Given the description of an element on the screen output the (x, y) to click on. 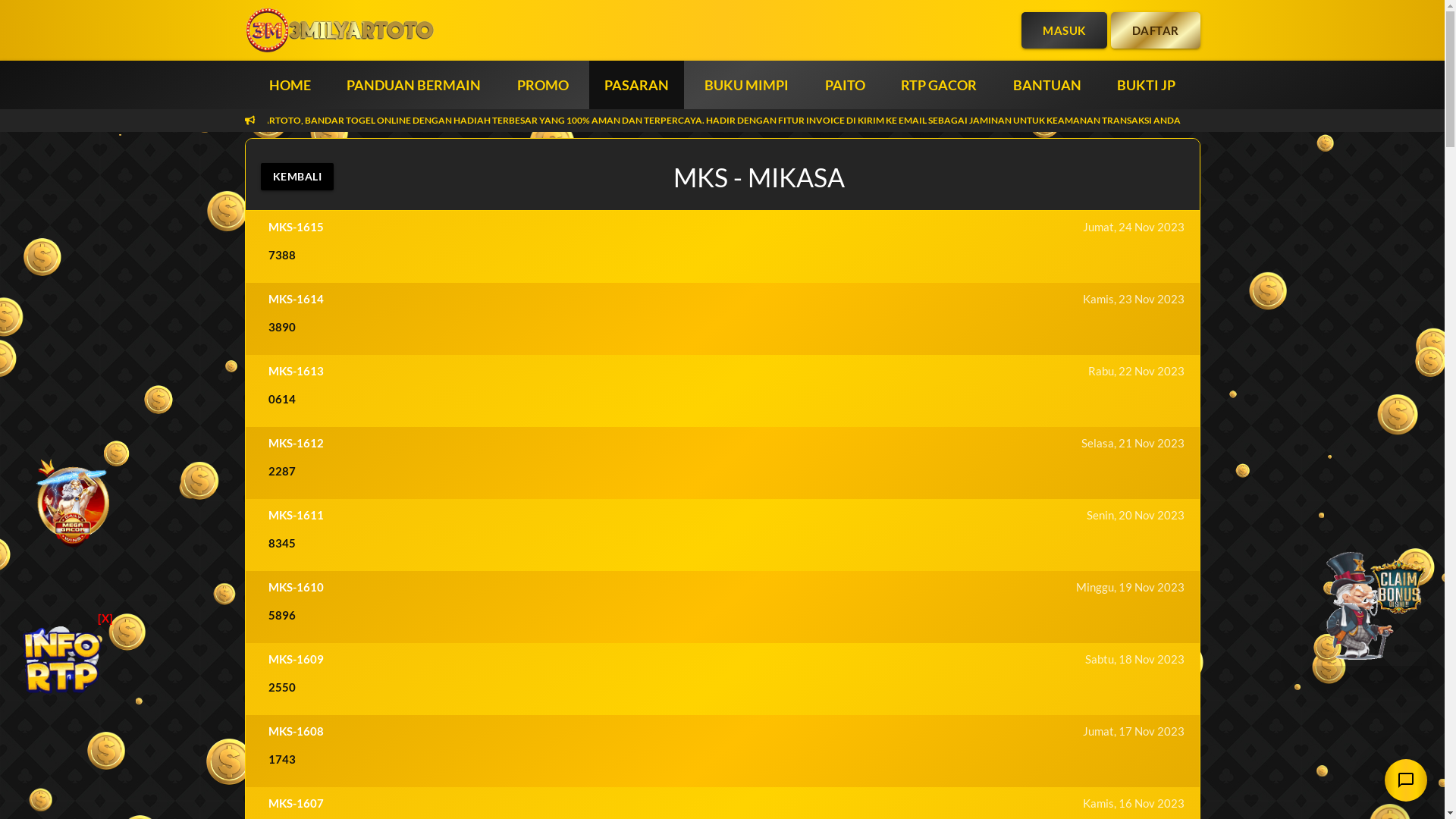
BANTUAN Element type: text (1046, 84)
HOME Element type: text (289, 84)
chat_bubble_outline Element type: text (1405, 780)
KEMBALI Element type: text (297, 176)
PROMO Element type: text (542, 84)
MASUK Element type: text (1064, 30)
DAFTAR Element type: text (1154, 30)
BUKU MIMPI Element type: text (746, 84)
BUKTI JP Element type: text (1145, 84)
PANDUAN BERMAIN Element type: text (413, 84)
PAITO Element type: text (844, 84)
RTP GACOR Element type: text (938, 84)
PASARAN Element type: text (636, 84)
